Given the description of an element on the screen output the (x, y) to click on. 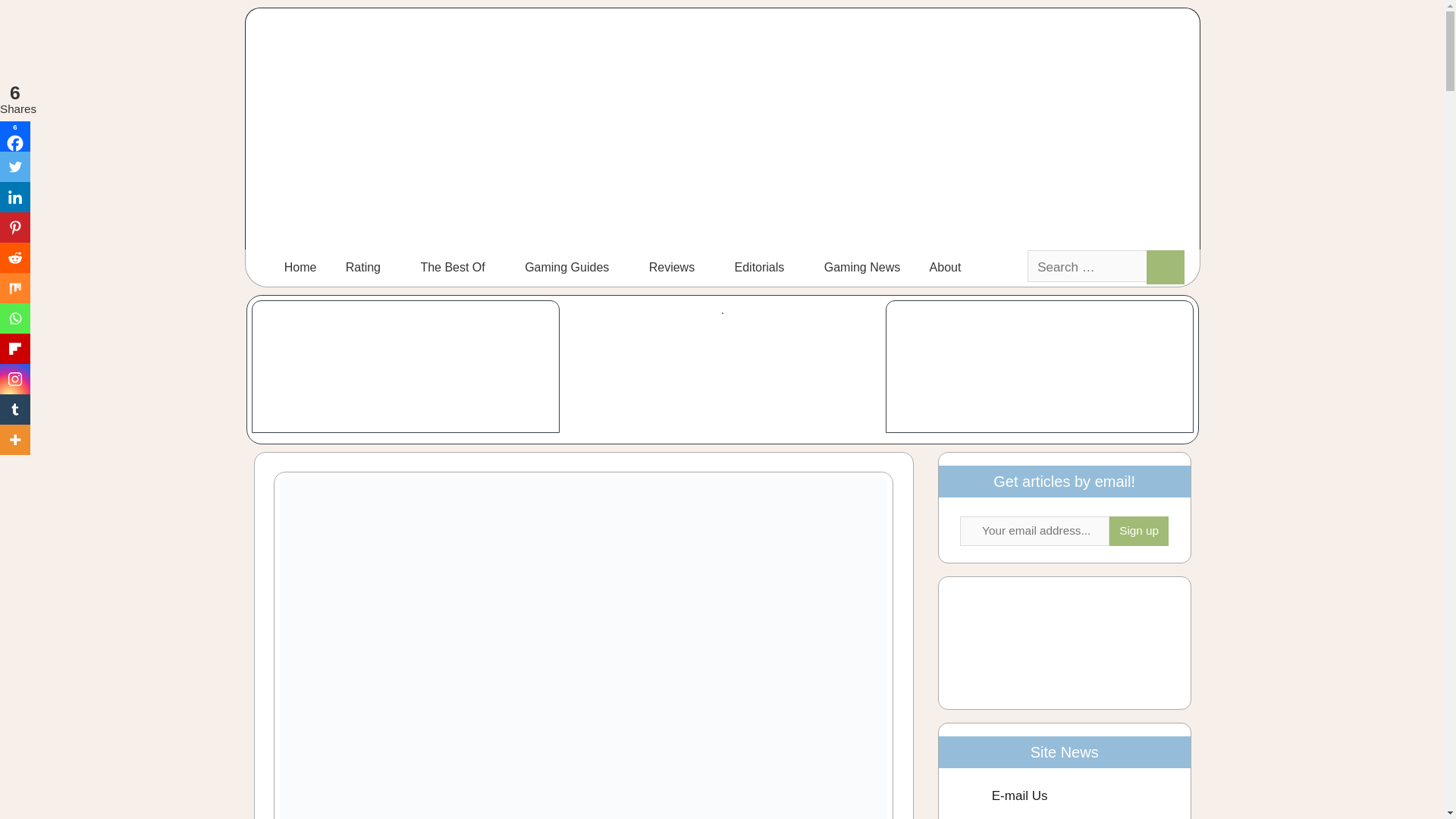
Facebook (15, 136)
Tumblr (15, 409)
Linkedin (15, 196)
The Best Of (458, 267)
Whatsapp (15, 318)
Home (300, 267)
Pinterest (15, 227)
Search for: (1087, 265)
Total Shares (15, 99)
Flipboard (15, 348)
